Given the description of an element on the screen output the (x, y) to click on. 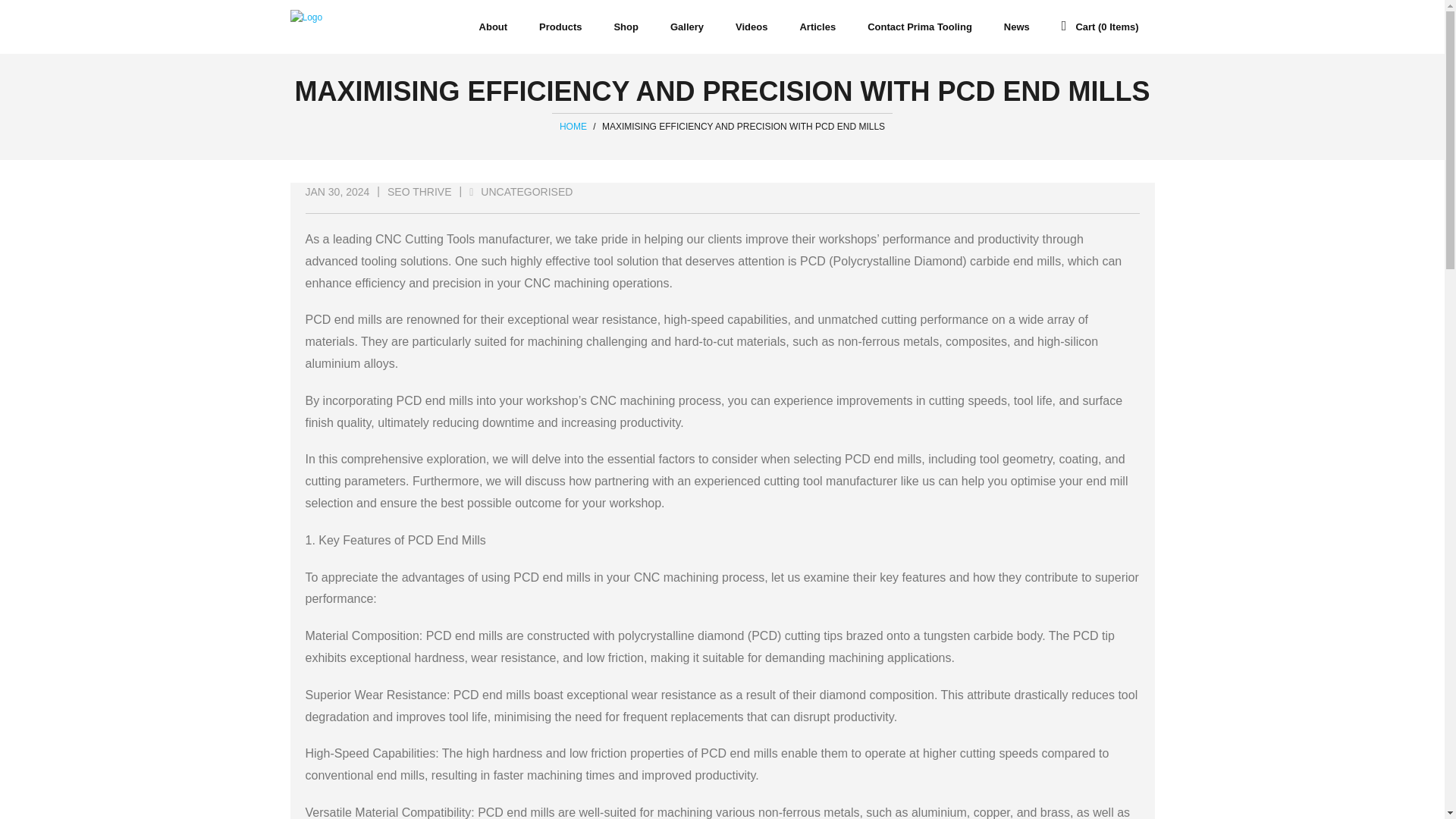
Shop (625, 26)
About (493, 26)
Images of various tools (686, 26)
Articles (817, 26)
Contact Prima Tooling (920, 26)
Gallery (686, 26)
Products (559, 26)
View your shopping cart (1099, 26)
Tooling ranges,information and brochures (559, 26)
